Given the description of an element on the screen output the (x, y) to click on. 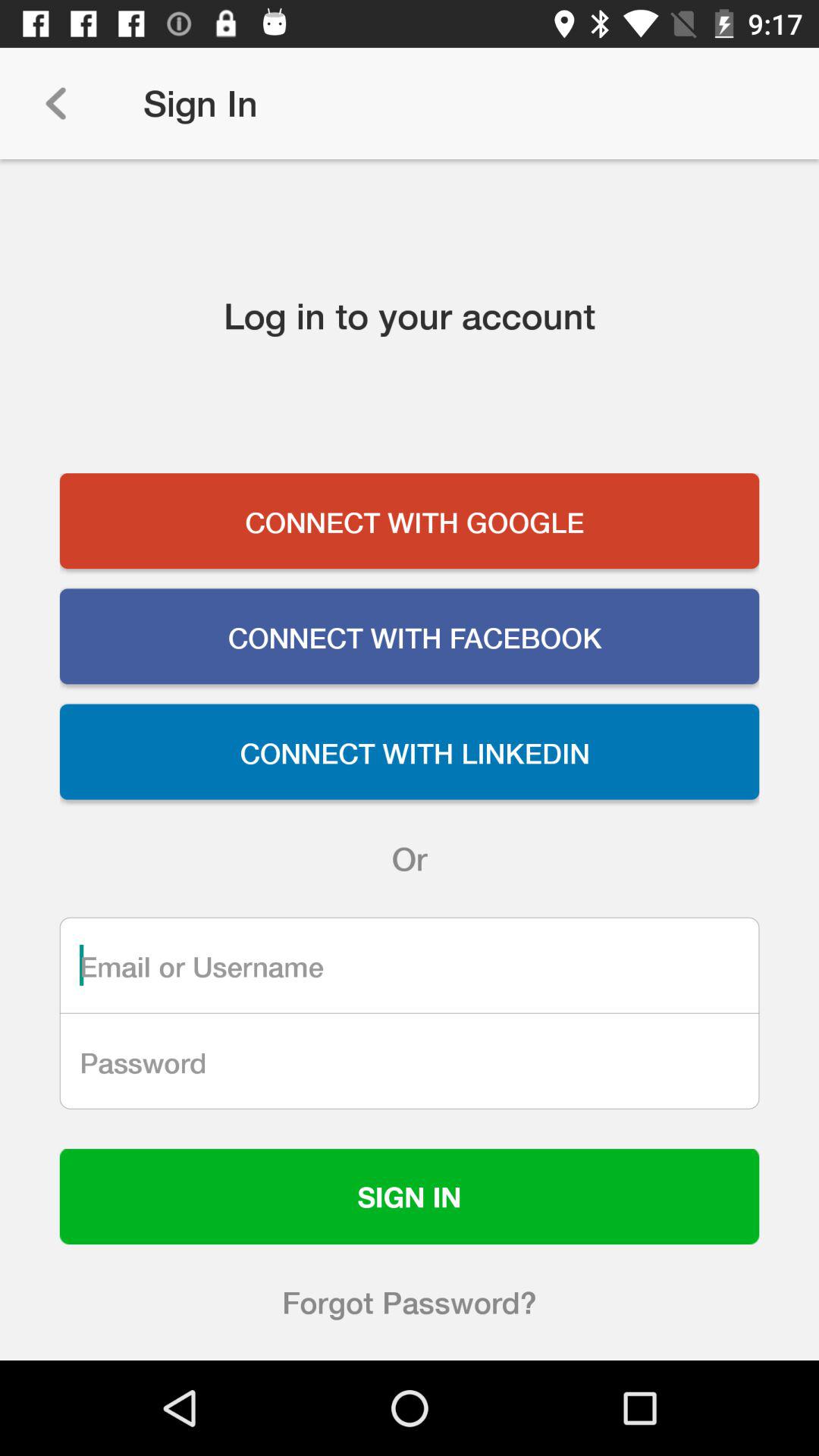
select the item below or icon (409, 964)
